Given the description of an element on the screen output the (x, y) to click on. 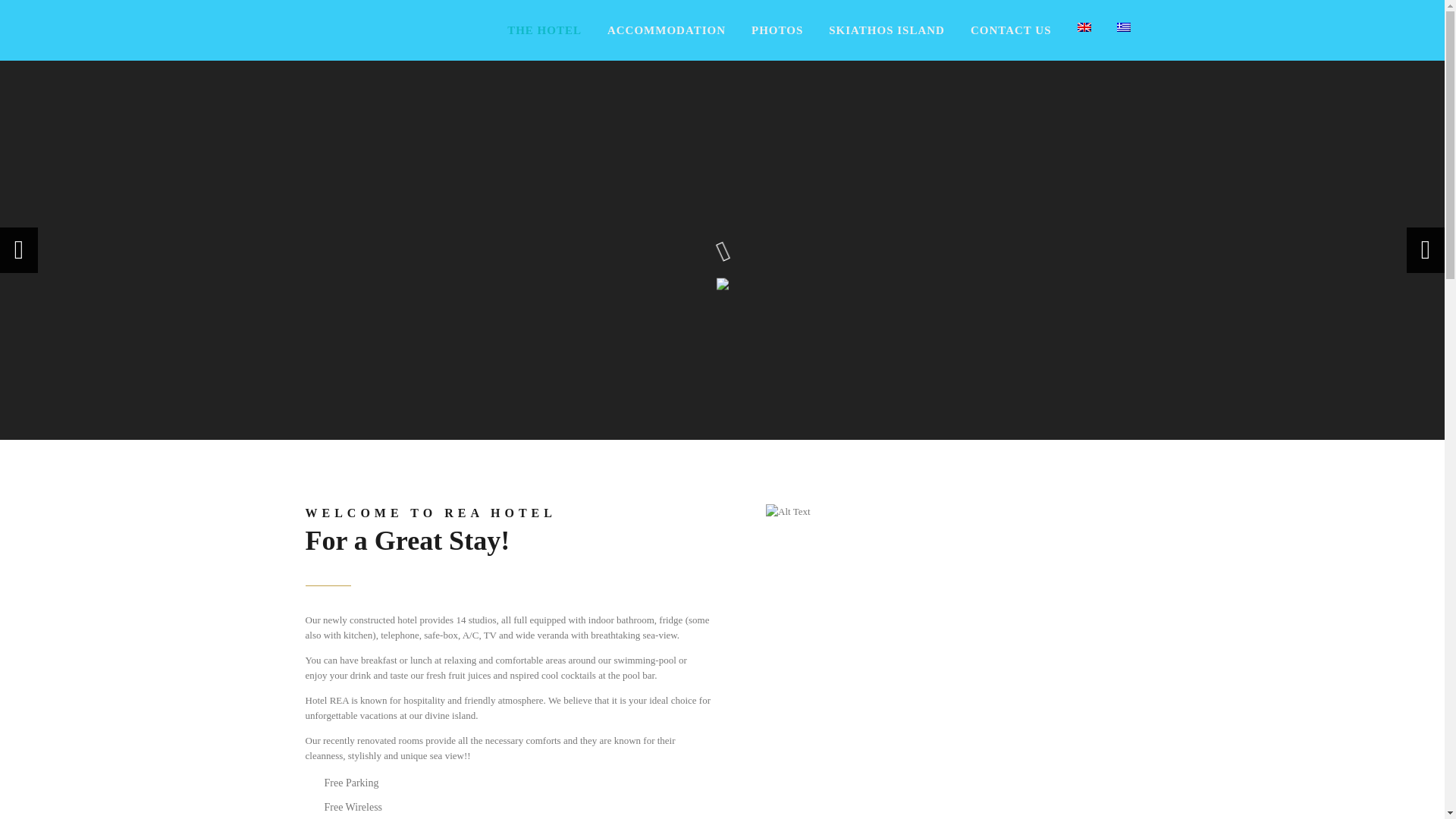
CONTACT US (1010, 29)
PHOTOS (777, 29)
THE HOTEL (544, 29)
SKIATHOS ISLAND (886, 29)
ACCOMMODATION (666, 29)
